Given the description of an element on the screen output the (x, y) to click on. 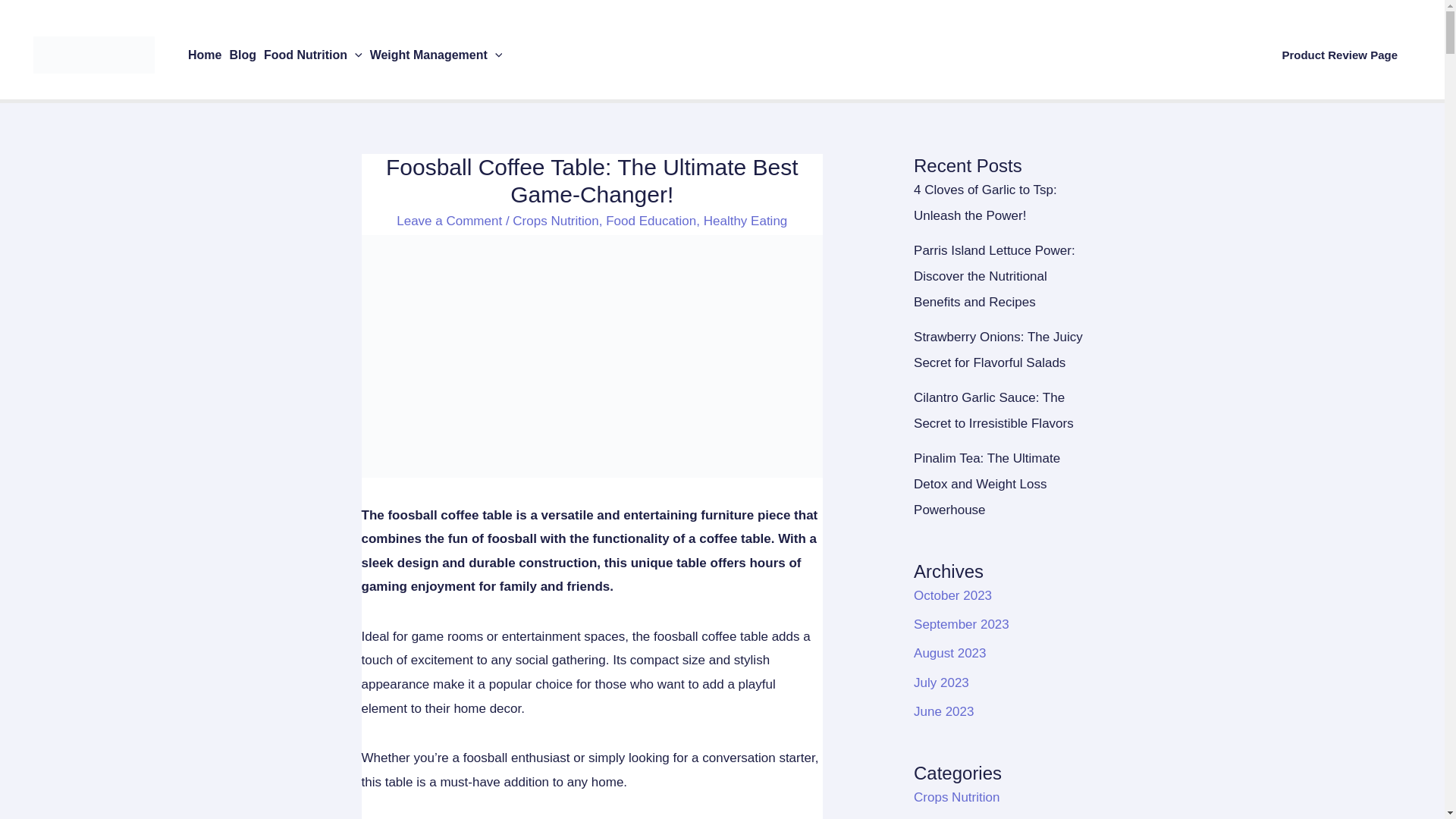
Product Review Page (1339, 55)
Weight Management (436, 55)
Leave a Comment (449, 220)
Food Nutrition (313, 55)
Crops Nutrition (555, 220)
